Given the description of an element on the screen output the (x, y) to click on. 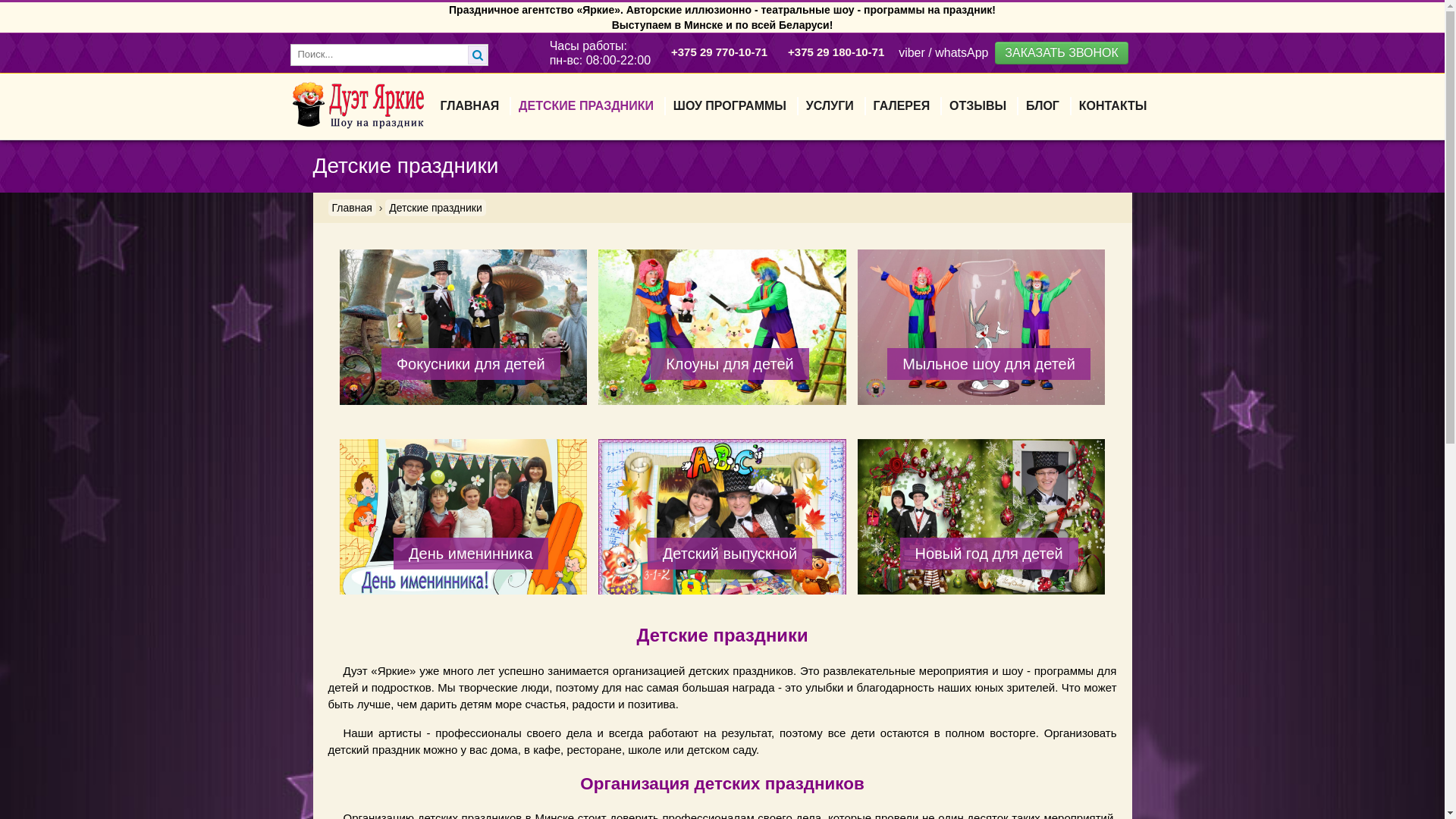
+375 29 180-10-71 Element type: text (835, 51)
+375 29 770-10-71 Element type: text (719, 51)
